Given the description of an element on the screen output the (x, y) to click on. 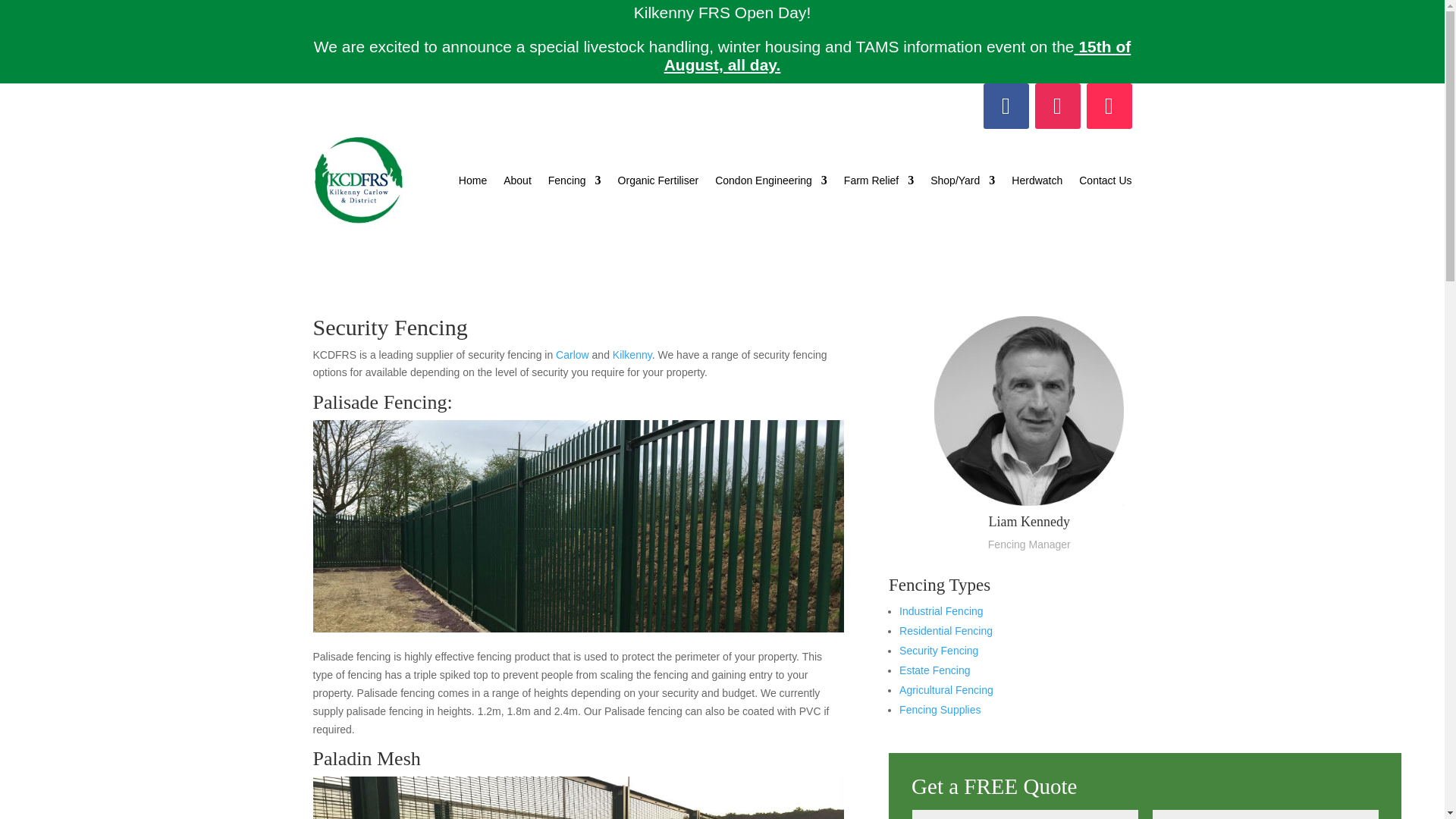
Organic Fertiliser (657, 180)
Follow on TikTok (1108, 105)
Follow on Instagram (1056, 105)
Follow on Facebook (1004, 105)
Condon Engineering (770, 180)
